Given the description of an element on the screen output the (x, y) to click on. 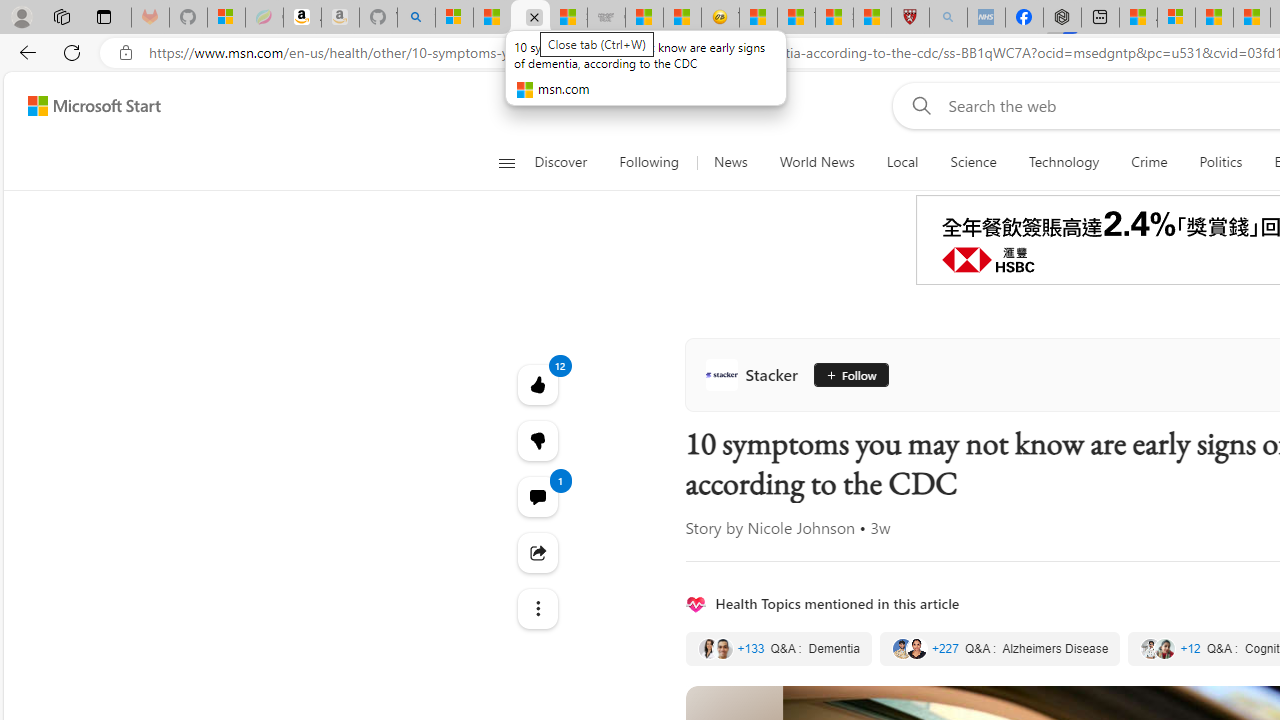
Nordace - Nordace Siena Is Not An Ordinary Backpack (1062, 17)
Microsoft account | Privacy (1176, 17)
Skip to footer (82, 105)
Local (902, 162)
See more (537, 608)
Robert H. Shmerling, MD - Harvard Health (910, 17)
Follow (850, 374)
Following (649, 162)
